Given the description of an element on the screen output the (x, y) to click on. 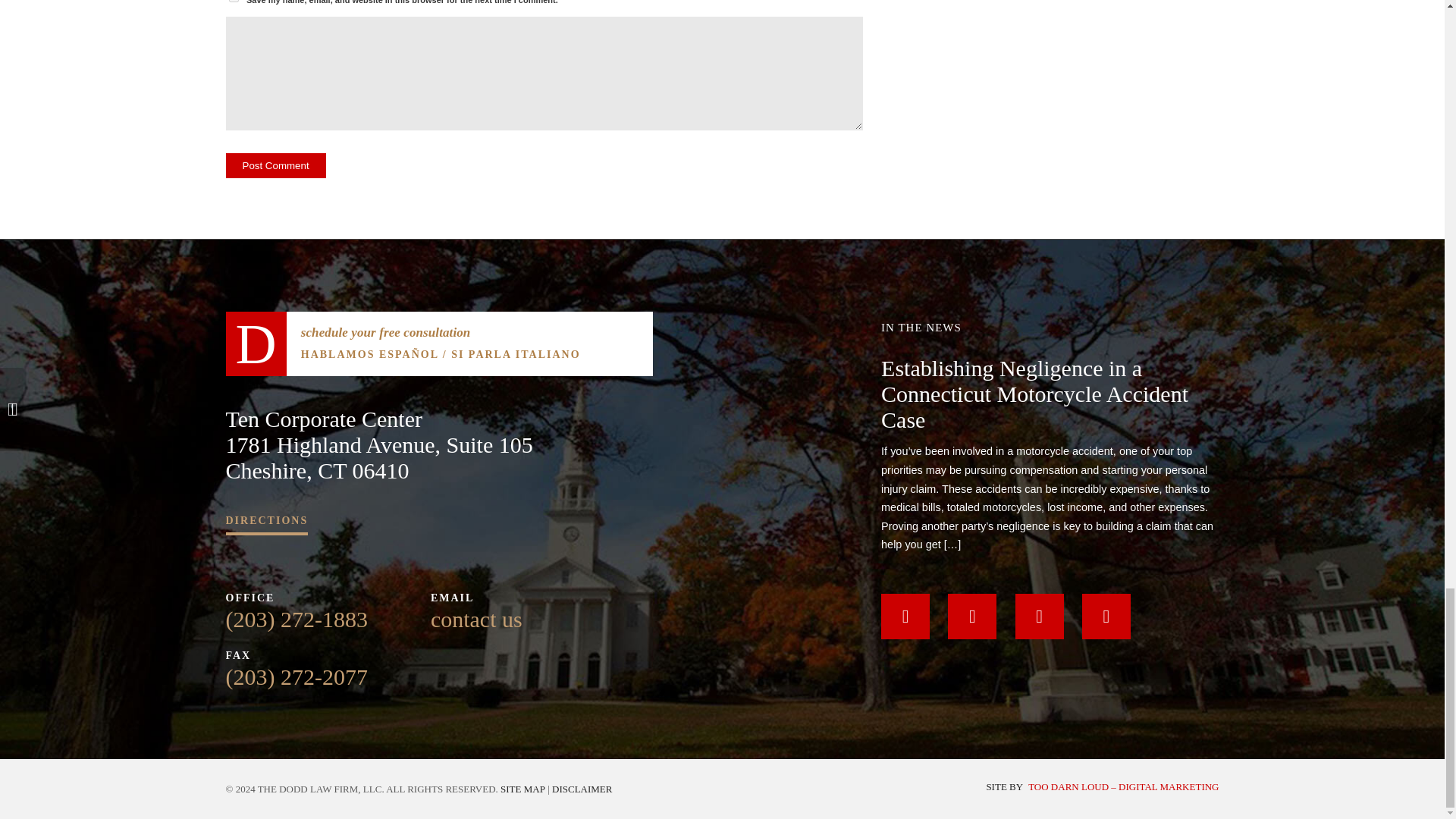
Post Comment (275, 165)
